Given the description of an element on the screen output the (x, y) to click on. 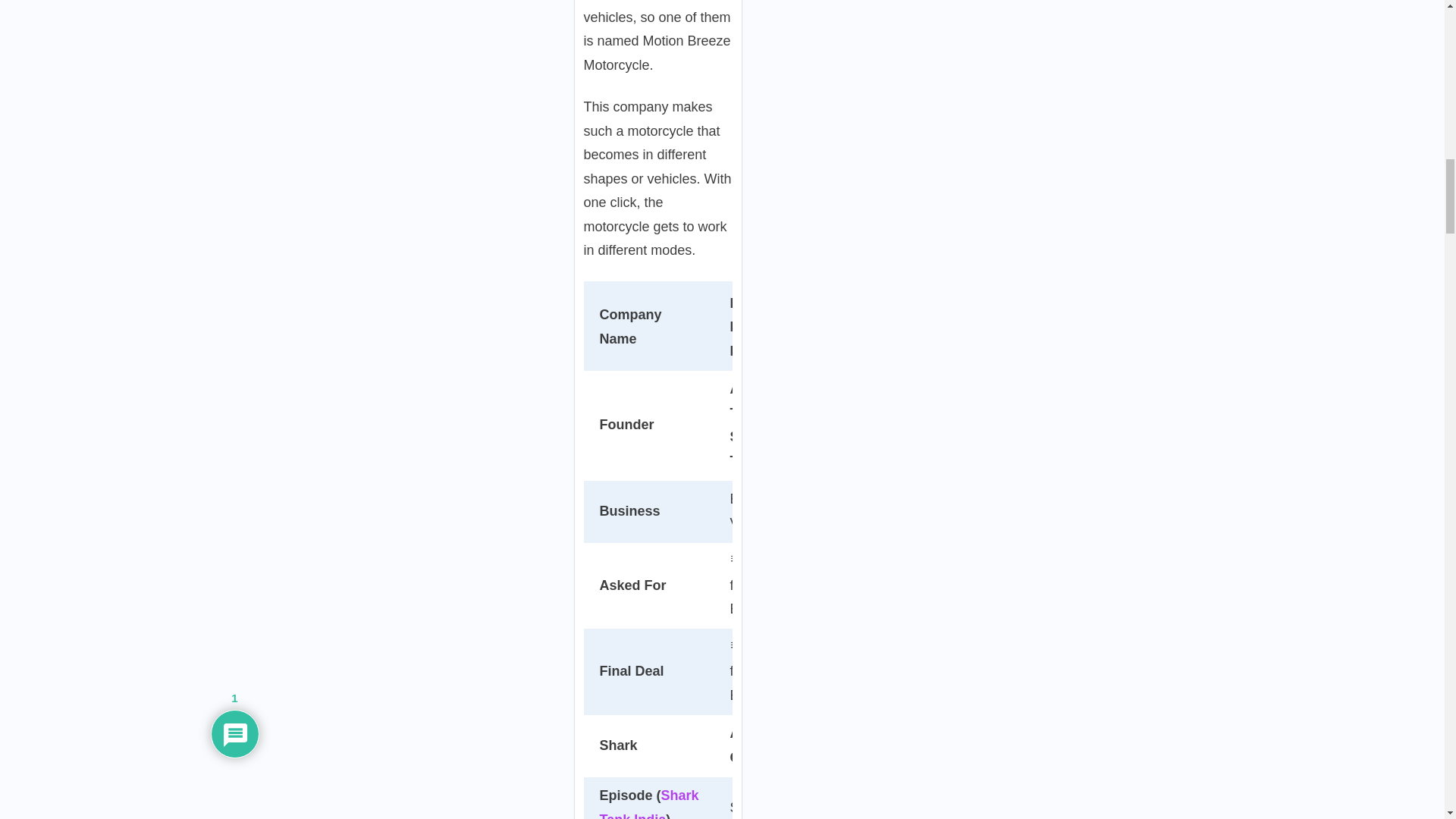
Shark Tank India (648, 803)
